Given the description of an element on the screen output the (x, y) to click on. 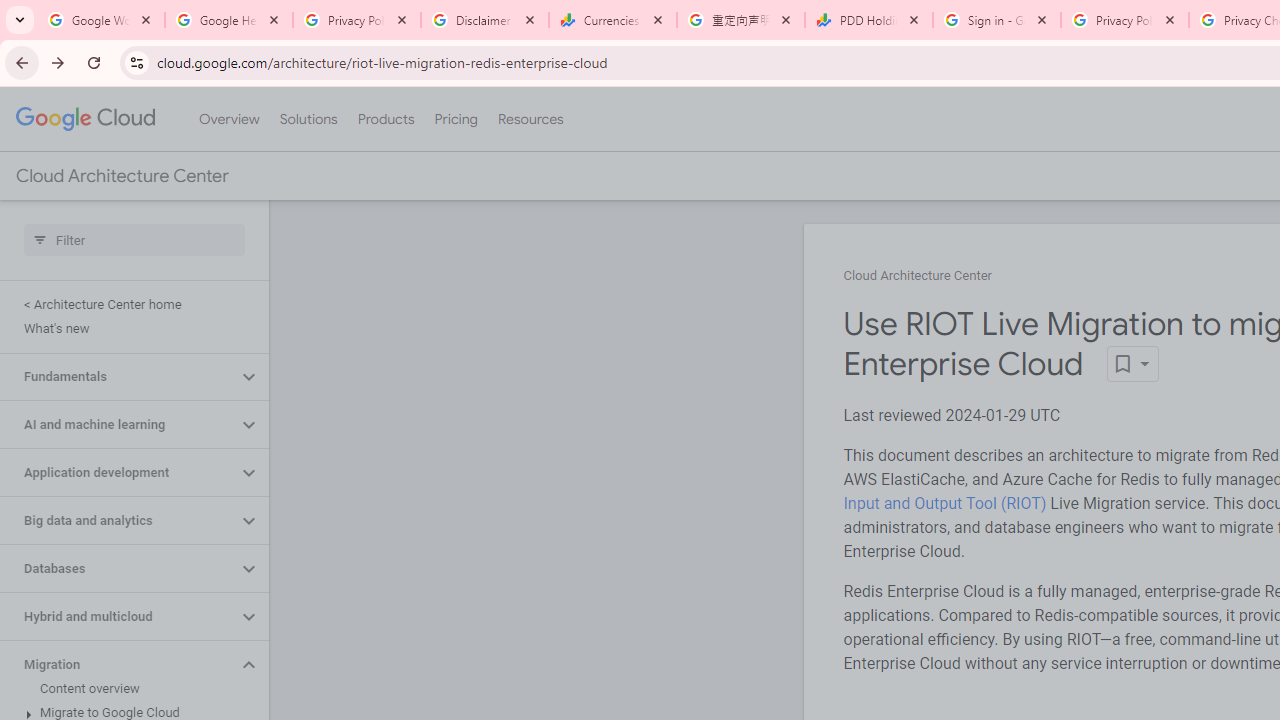
Products (385, 119)
Fundamentals (118, 376)
Content overview (130, 688)
Google Workspace Admin Community (101, 20)
Resources (530, 119)
Pricing (455, 119)
Google Cloud (84, 118)
